Given the description of an element on the screen output the (x, y) to click on. 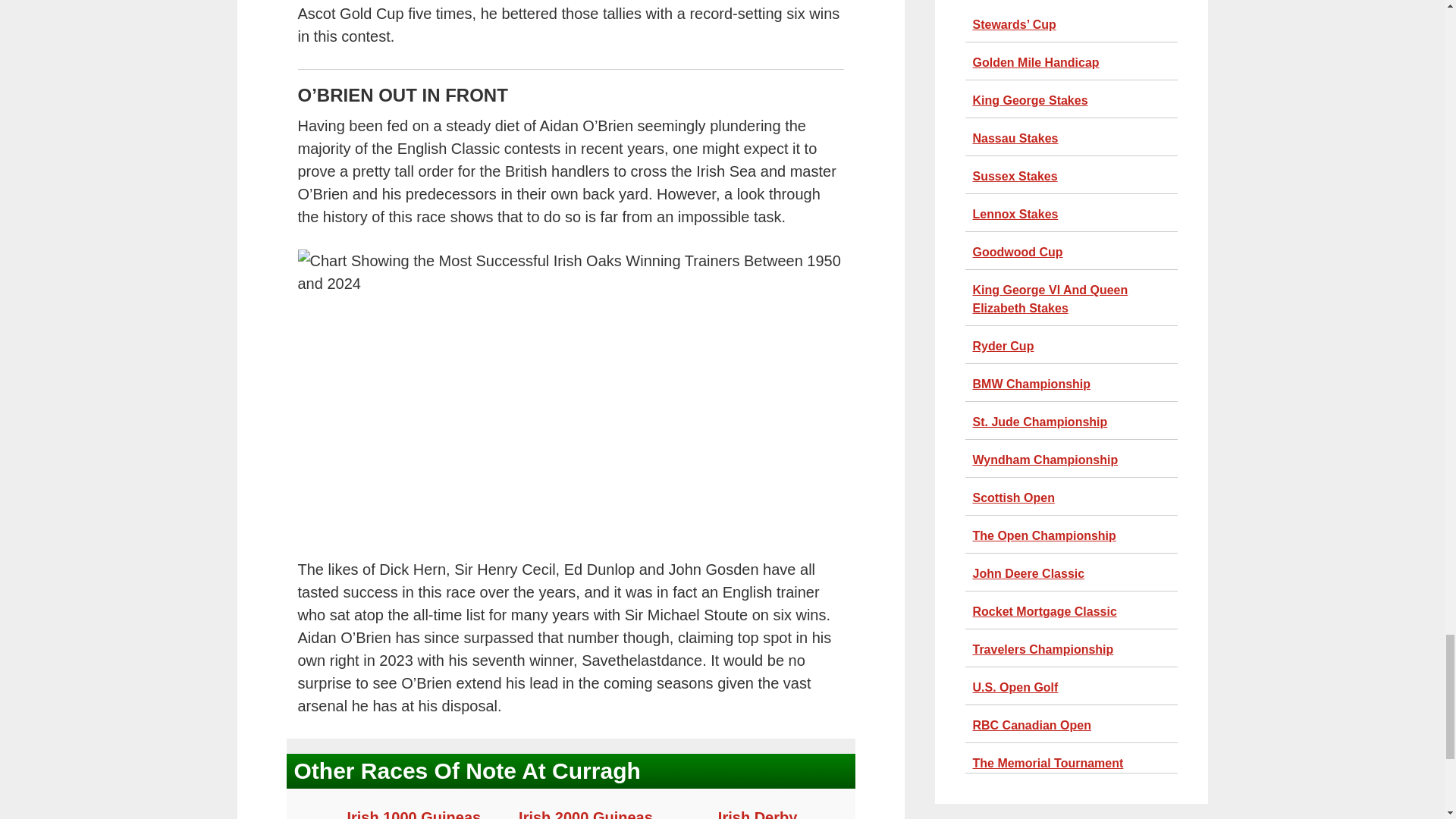
King George Stakes - Updated Friday, August 30 2024, 11:43 (1029, 100)
Goodwood Cup - Updated Thursday, August 29 2024, 03:57 (1017, 251)
Sussex Stakes - Updated Thursday, August 29 2024, 04:47 (1014, 175)
Nassau Stakes - Updated Friday, August 30 2024, 10:58 (1015, 137)
Golden Mile Handicap - Updated Friday, August 30 2024, 12:25 (1035, 62)
Lennox Stakes - Updated Thursday, August 29 2024, 04:21 (1015, 214)
